Given the description of an element on the screen output the (x, y) to click on. 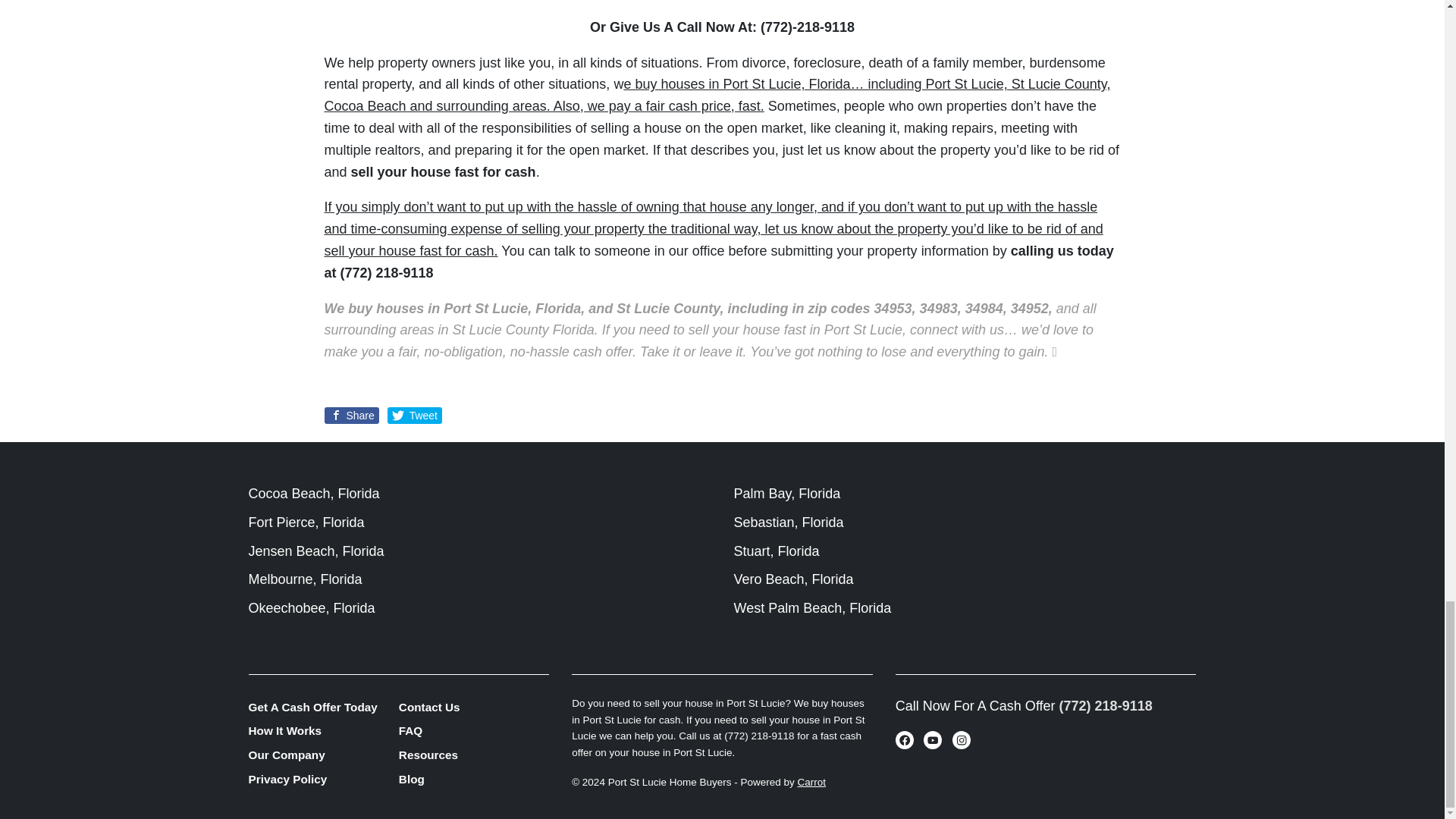
Tweet (414, 415)
Get A Cash Offer Today (323, 707)
Okeechobee, Florida (311, 607)
Palm Bay, Florida (787, 493)
Vero Beach, Florida (793, 579)
Resources (473, 754)
Privacy Policy (323, 779)
How It Works (323, 731)
Melbourne, Florida (305, 579)
Contact Us (473, 707)
Our Company (323, 754)
Cocoa Beach, Florida (314, 493)
Carrot (812, 781)
Share (351, 415)
Fort Pierce, Florida (306, 522)
